Given the description of an element on the screen output the (x, y) to click on. 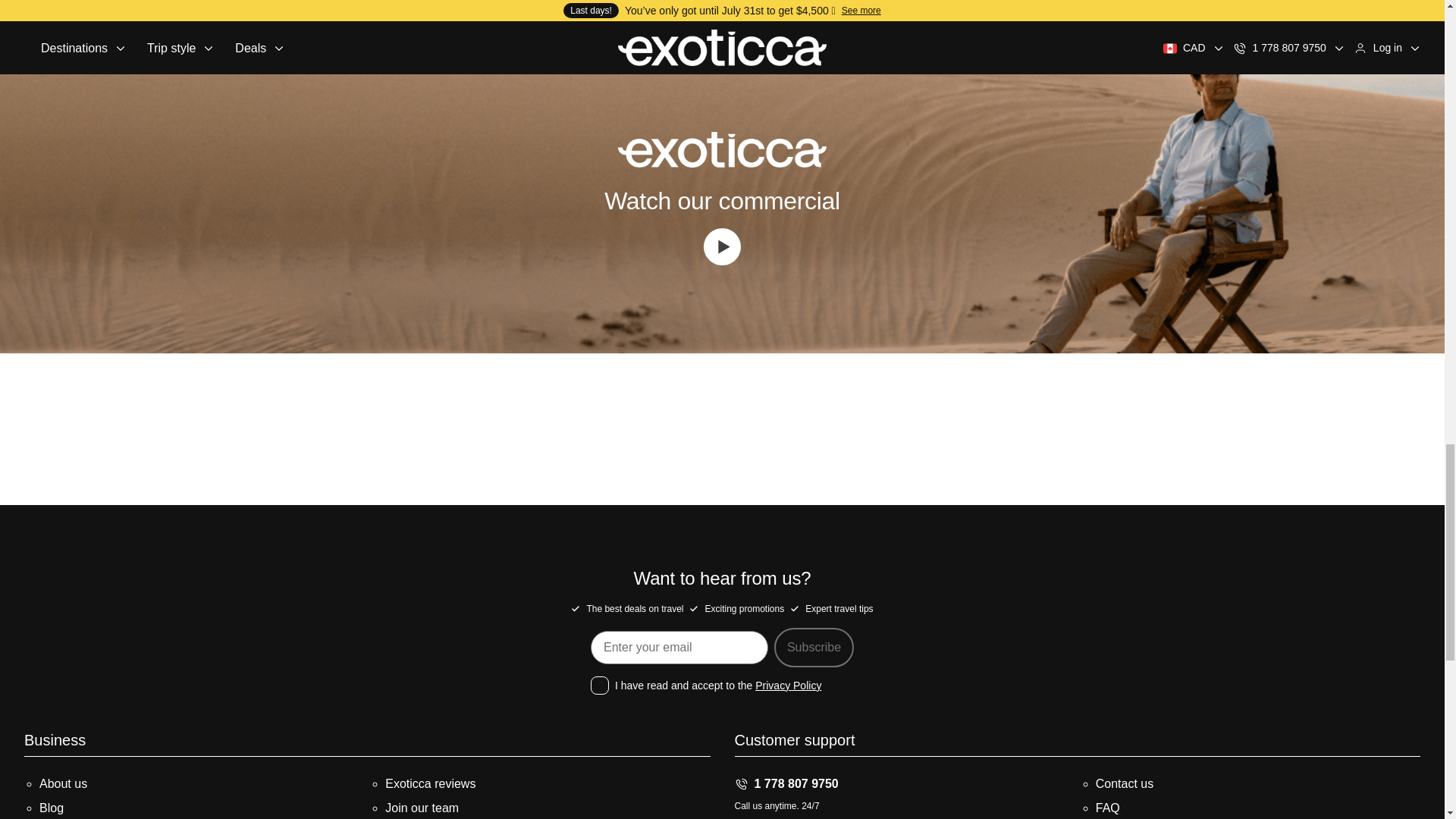
check-icon (693, 608)
check-icon (574, 608)
phone-call-icon (740, 784)
check-icon (794, 608)
